Given the description of an element on the screen output the (x, y) to click on. 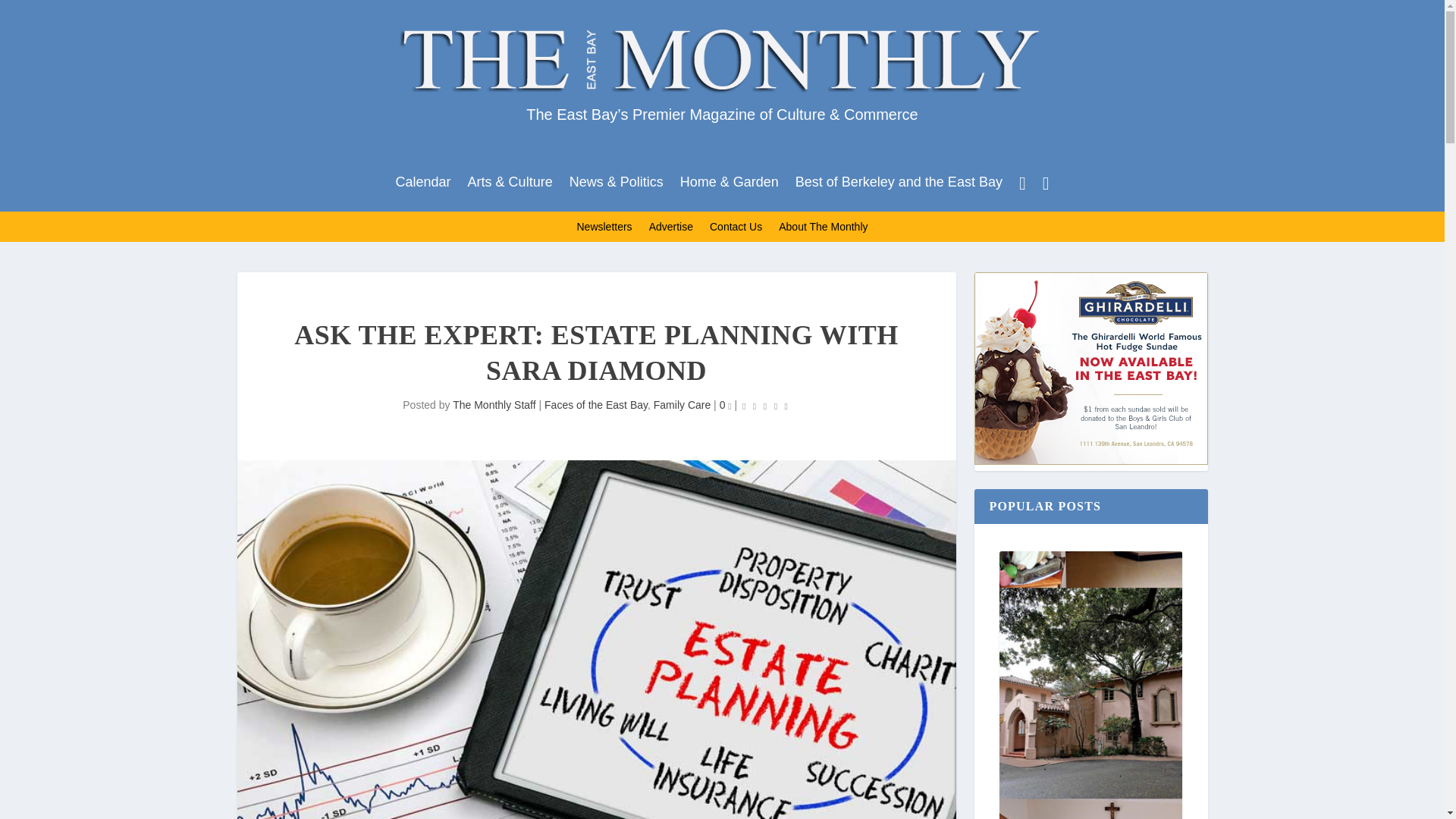
themonthly--magazine-logo2 (721, 58)
About The Monthly (822, 229)
Faces of the East Bay (595, 404)
Newsletters (603, 229)
Best of Berkeley and the East Bay (898, 186)
Advertise (671, 229)
Posts by The Monthly Staff (493, 404)
Contact Us (735, 229)
The Monthly Staff (493, 404)
Calendar (423, 186)
Rating: 0.00 (764, 405)
